Given the description of an element on the screen output the (x, y) to click on. 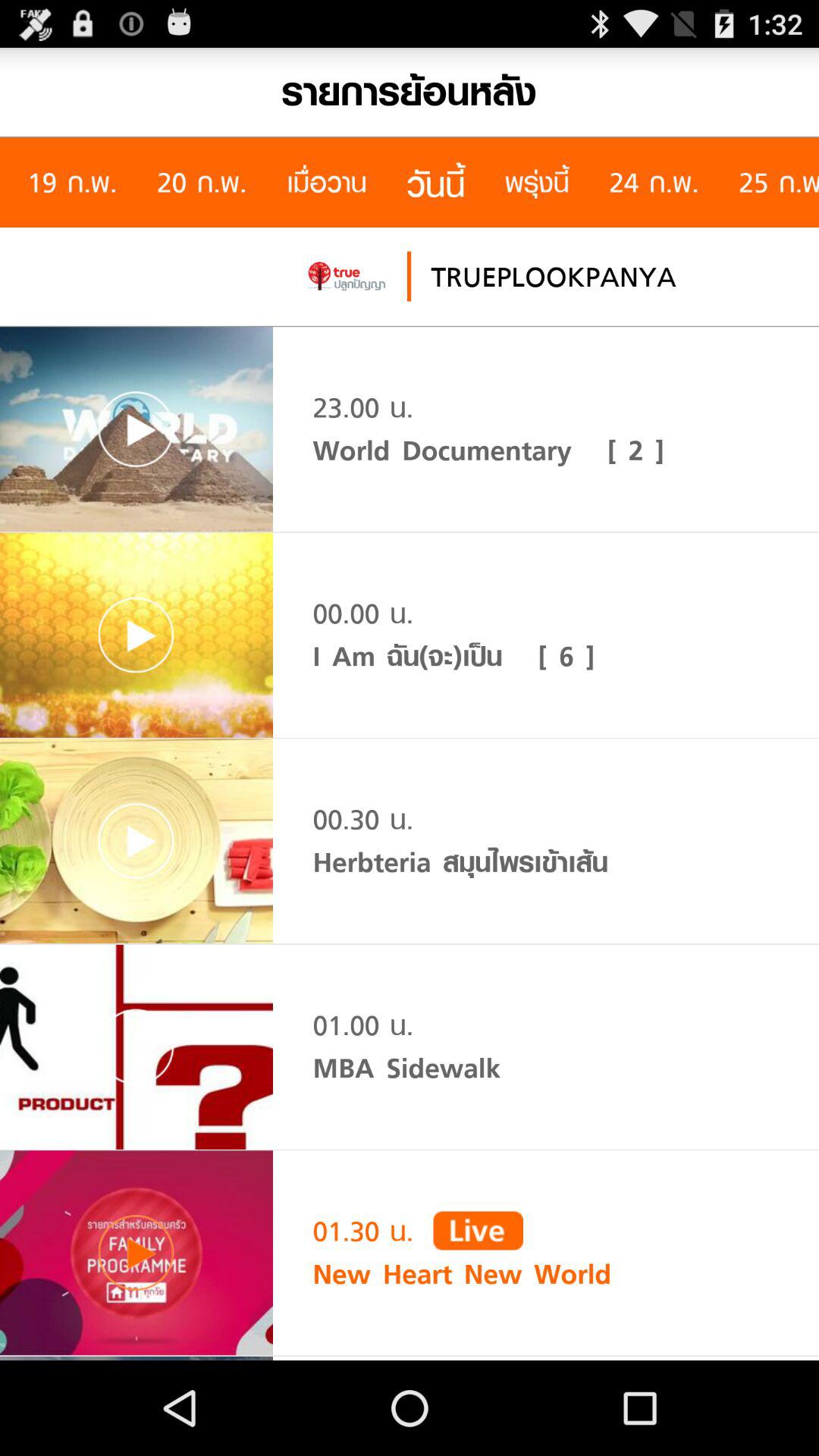
select icon below mba sidewalk (478, 1230)
